Given the description of an element on the screen output the (x, y) to click on. 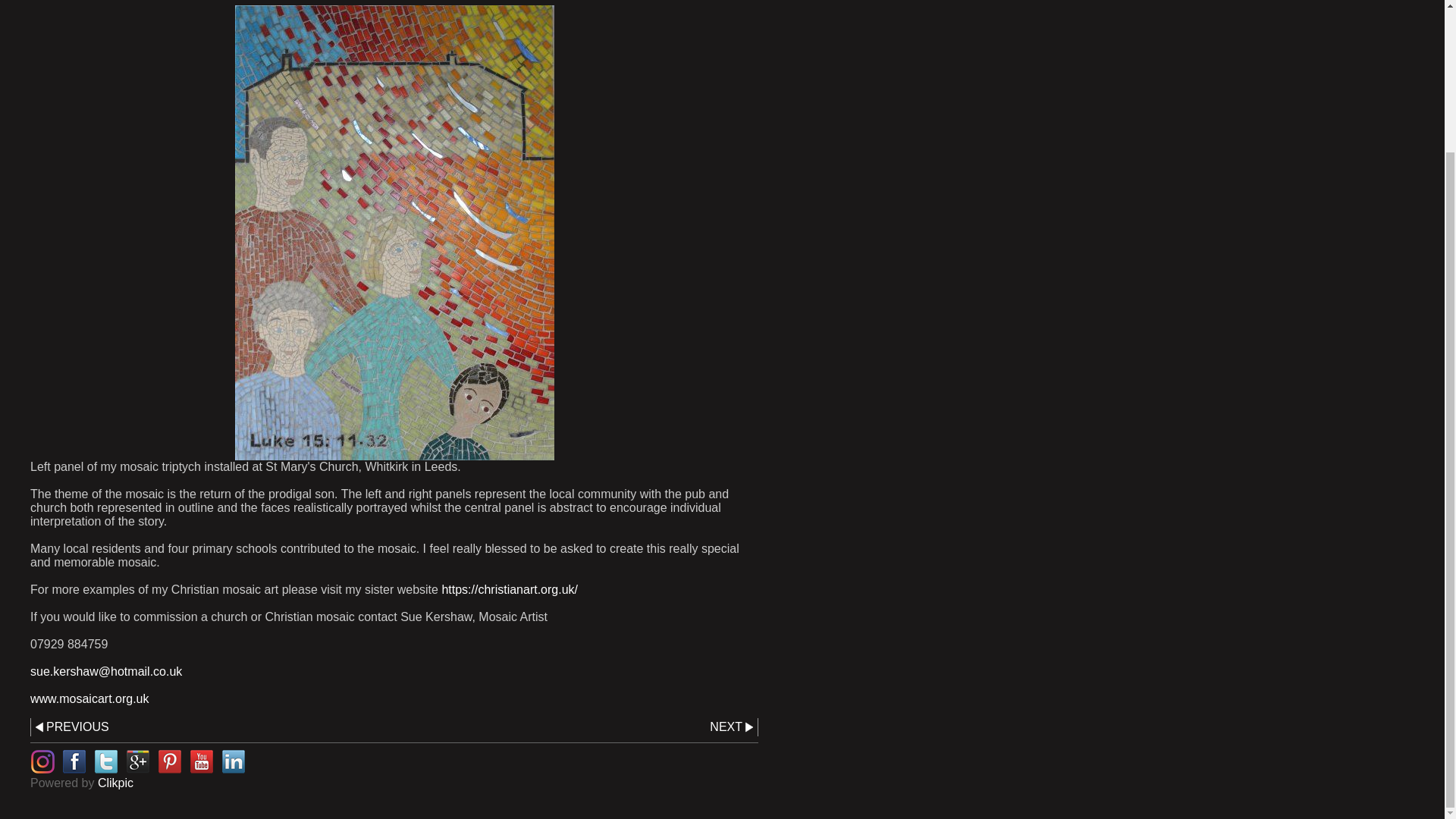
www.mosaicart.org.uk (89, 698)
Clikpic (115, 782)
